Given the description of an element on the screen output the (x, y) to click on. 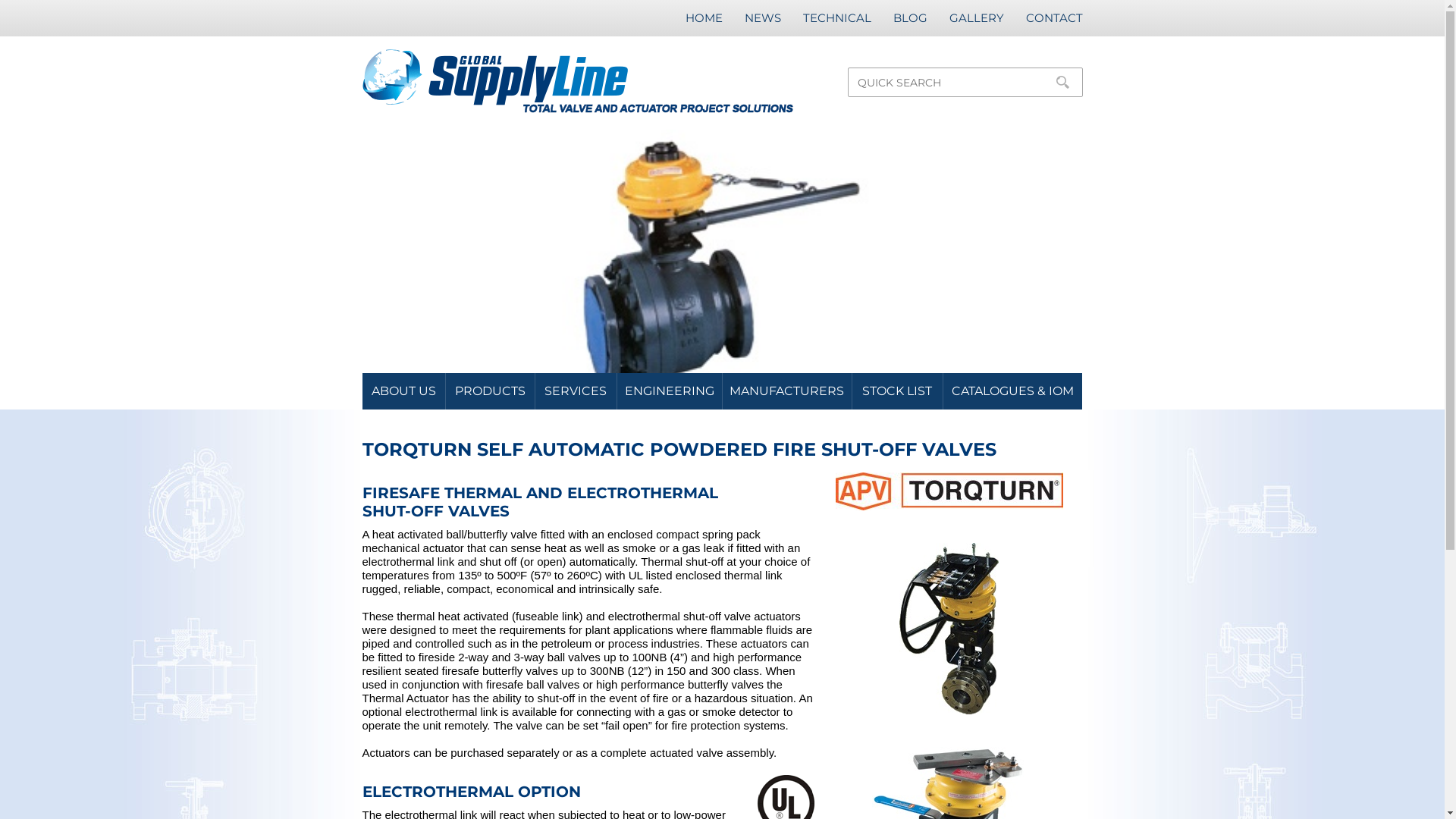
HOME Element type: text (703, 17)
BLOG Element type: text (910, 17)
PRODUCTS Element type: text (488, 391)
ENGINEERING Element type: text (668, 391)
SERVICES Element type: text (574, 391)
APV_TORQTURN combo logo | Global Supply Line Element type: hover (949, 491)
CONTACT Element type: text (1053, 17)
search Element type: text (1061, 81)
ABOUT US Element type: text (403, 391)
STOCK LIST Element type: text (895, 391)
CATALOGUES & IOM Element type: text (1011, 391)
MANUFACTURERS Element type: text (786, 391)
TECHNICAL Element type: text (836, 17)
img-197 | Global Supply Line Element type: hover (948, 628)
 | Global Supply Line Element type: hover (722, 269)
NEWS Element type: text (762, 17)
GALLERY Element type: text (976, 17)
